Given the description of an element on the screen output the (x, y) to click on. 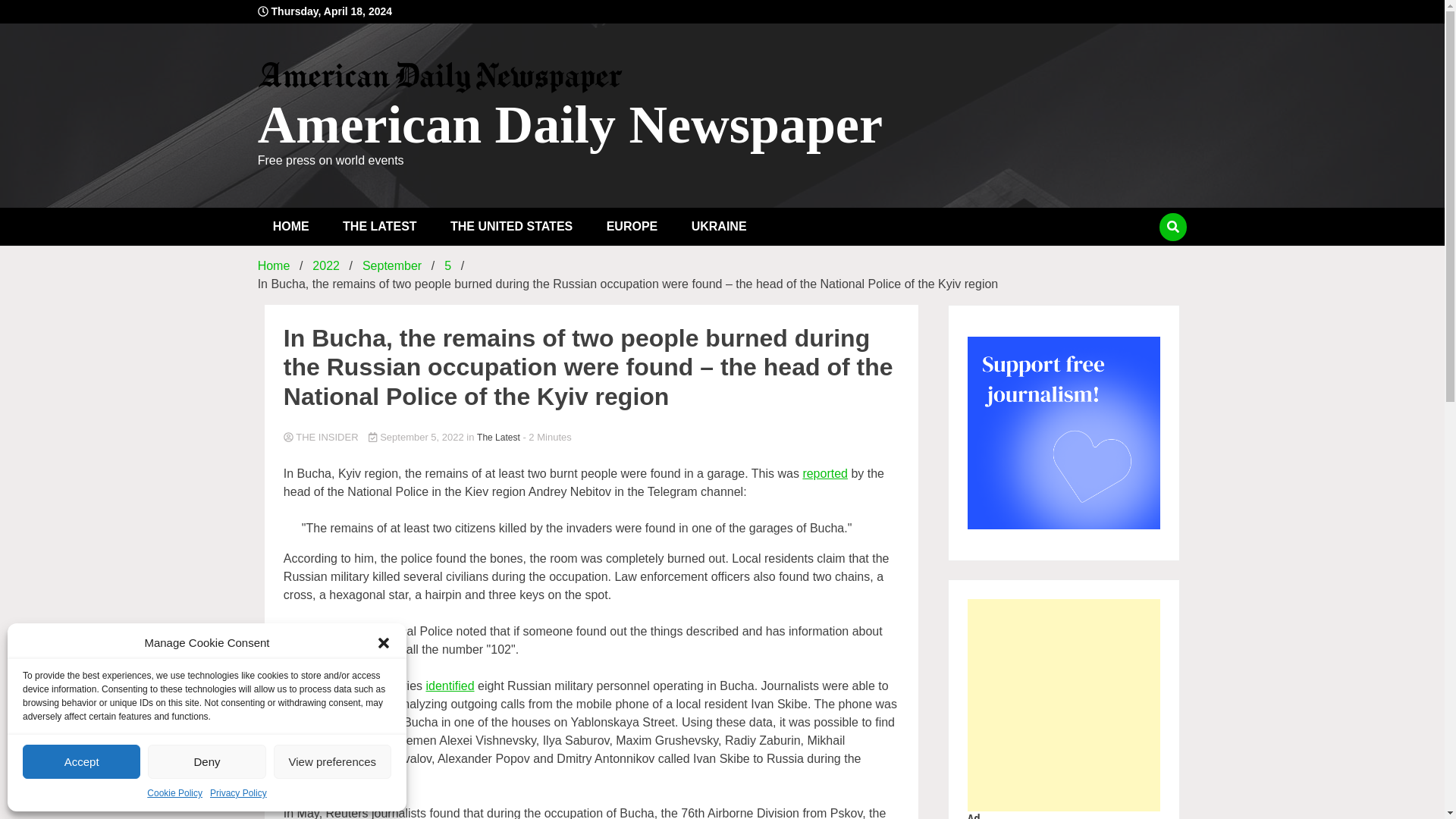
Cookie Policy (174, 793)
View preferences (332, 761)
Estimated Reading Time of Article (546, 437)
American Daily Newspaper (569, 124)
THE UNITED STATES (511, 226)
Deny (206, 761)
THE LATEST (378, 226)
September 5, 2022 (416, 437)
The Latest (498, 437)
2022 (326, 265)
Accept (81, 761)
Home (273, 265)
Advertisement (1141, 704)
UKRAINE (719, 226)
reported (824, 472)
